Given the description of an element on the screen output the (x, y) to click on. 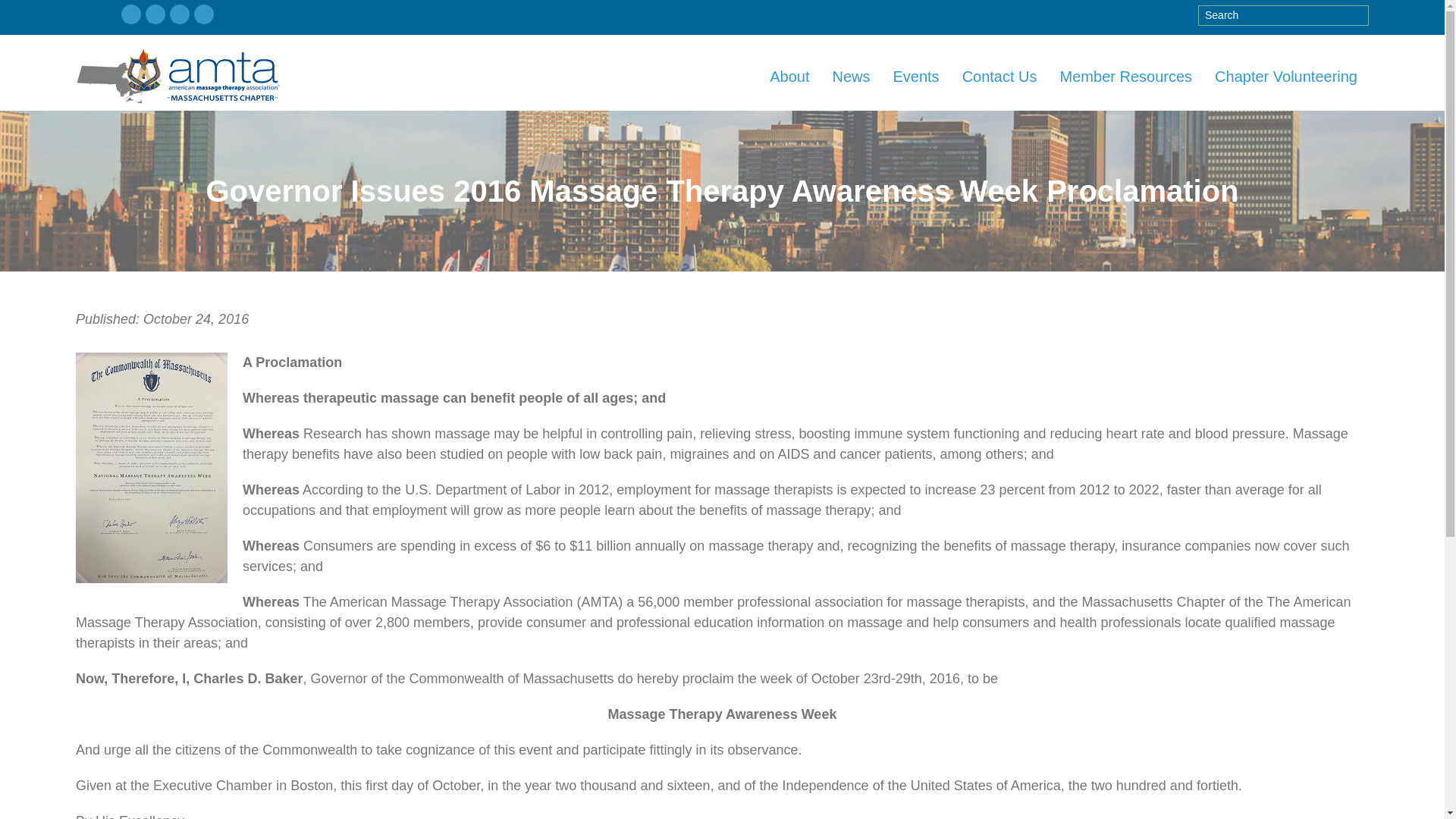
About (789, 76)
Member Resources (1126, 76)
Events (915, 76)
Ground Floor Websites (188, 72)
News (850, 76)
Contact Us (999, 76)
Chapter Volunteering (1286, 76)
